Given the description of an element on the screen output the (x, y) to click on. 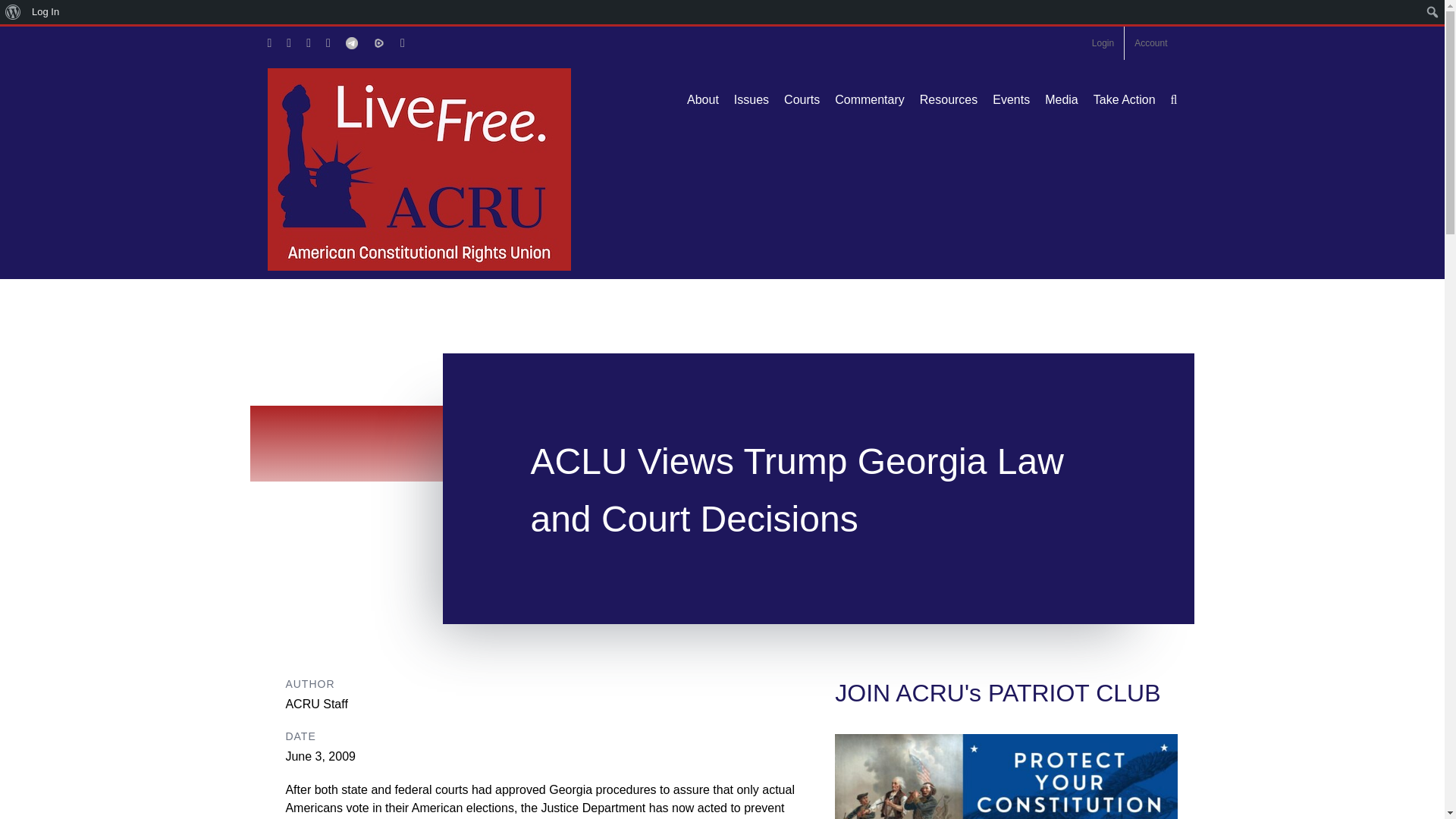
Telegram (352, 42)
Log In (45, 12)
About WordPress (13, 12)
Account (1150, 42)
Rumble (378, 42)
Telegram (352, 42)
Login (1102, 42)
Search (16, 13)
Rumble (378, 42)
